Given the description of an element on the screen output the (x, y) to click on. 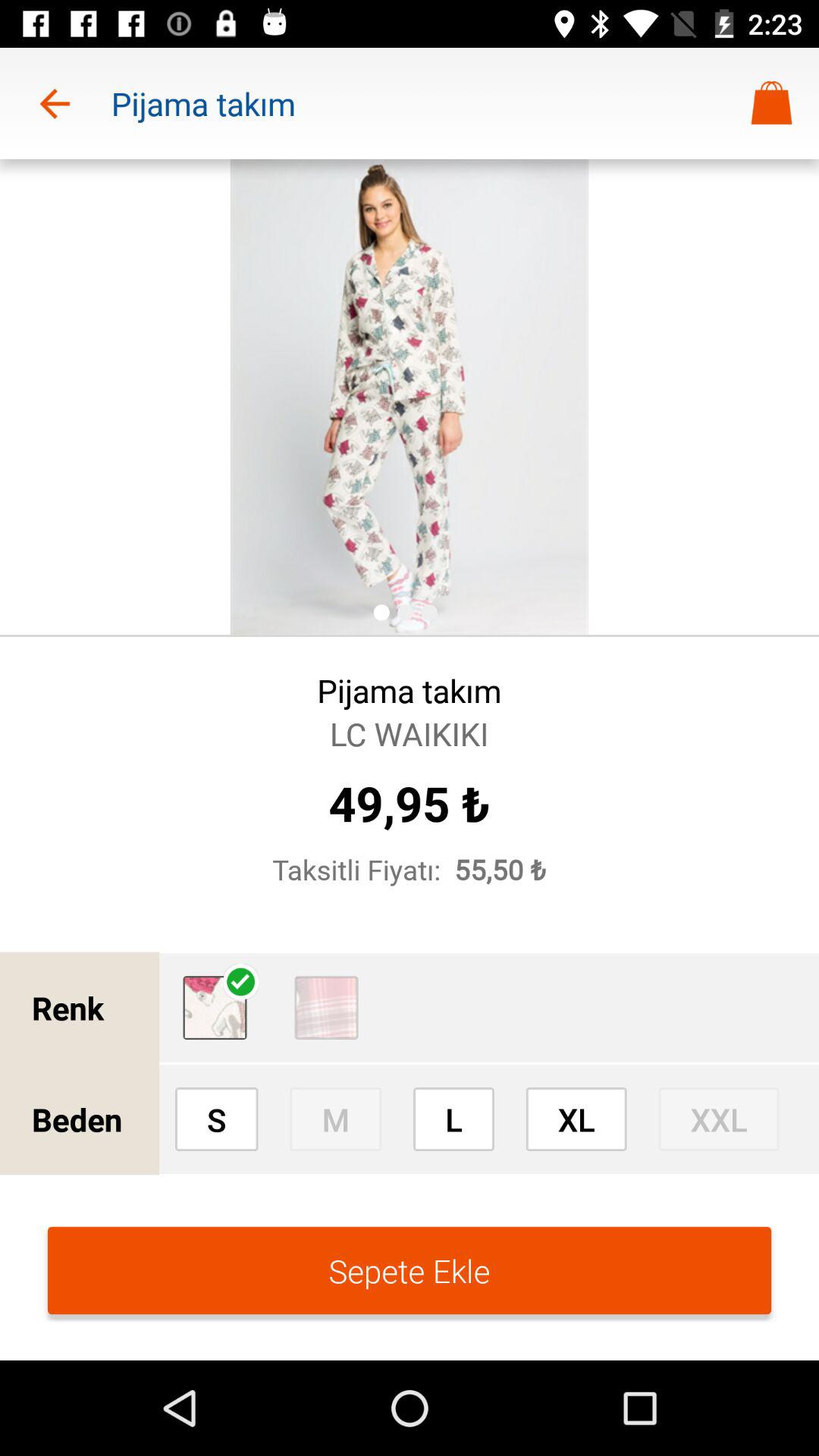
launch item next to xxl (576, 1119)
